Given the description of an element on the screen output the (x, y) to click on. 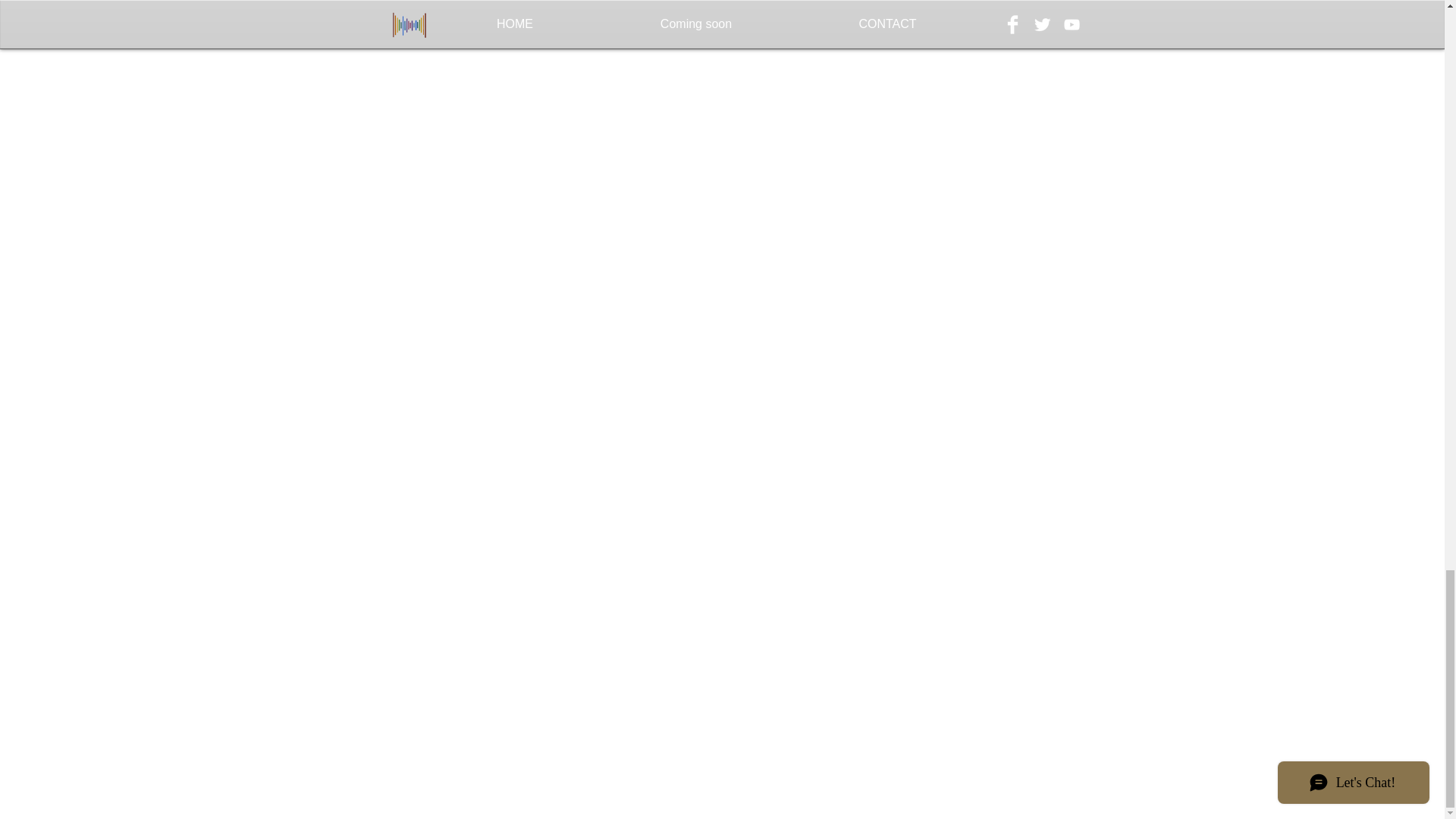
External YouTube (966, 69)
External YouTube (499, 69)
External YouTube (966, 304)
External YouTube (499, 304)
External YouTube (733, 304)
External YouTube (733, 69)
